Given the description of an element on the screen output the (x, y) to click on. 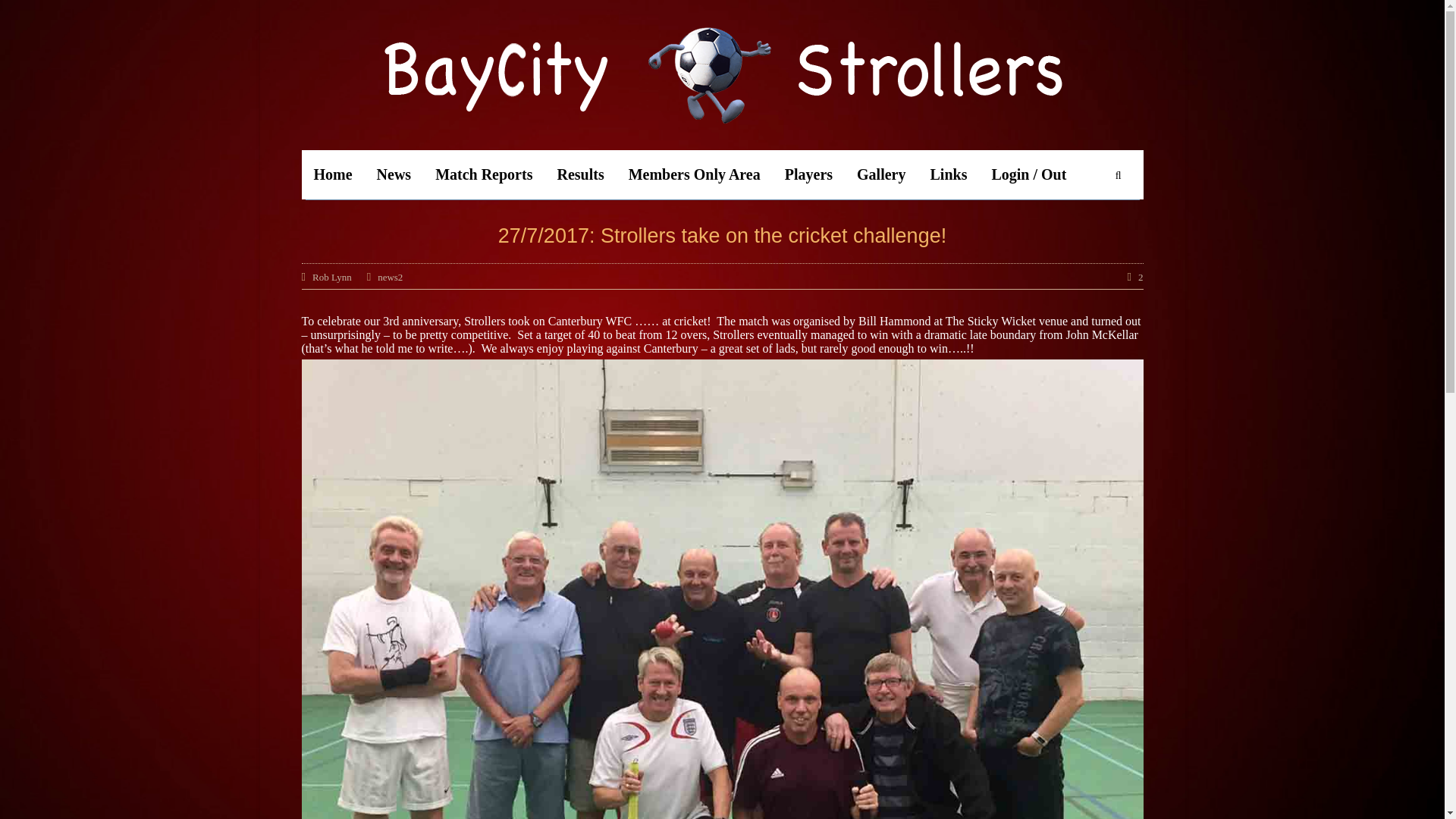
Home (333, 174)
BayCity Strollers Walking Football (722, 74)
News (394, 174)
Results (579, 174)
Members Only Area (694, 174)
Match Reports (483, 174)
Posts by Rob Lynn (332, 276)
